Given the description of an element on the screen output the (x, y) to click on. 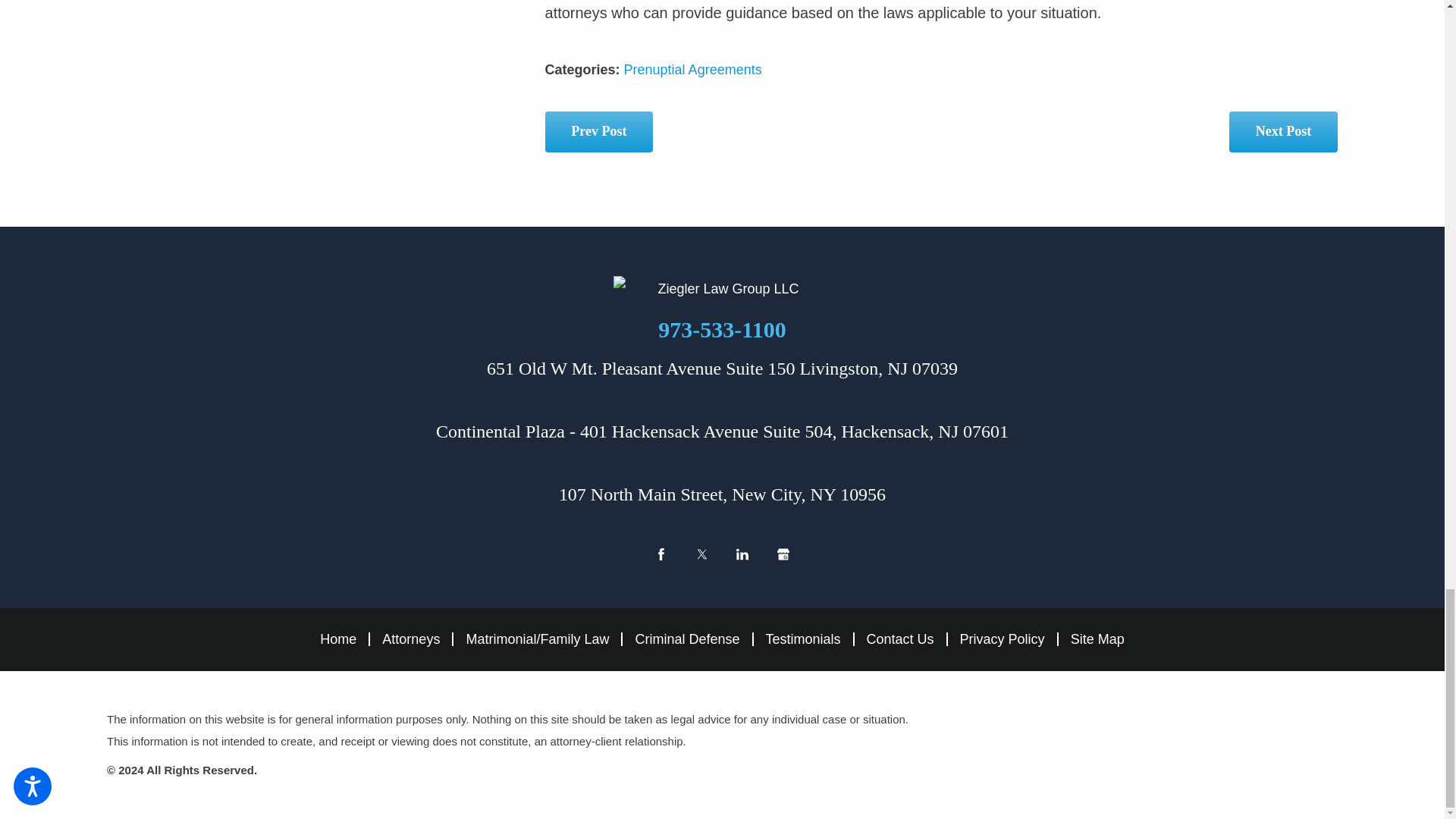
LinkedIn (742, 553)
Google Business Profile (783, 553)
Facebook (660, 553)
Twitter (701, 553)
Ziegler Law Group LLC (721, 289)
